Given the description of an element on the screen output the (x, y) to click on. 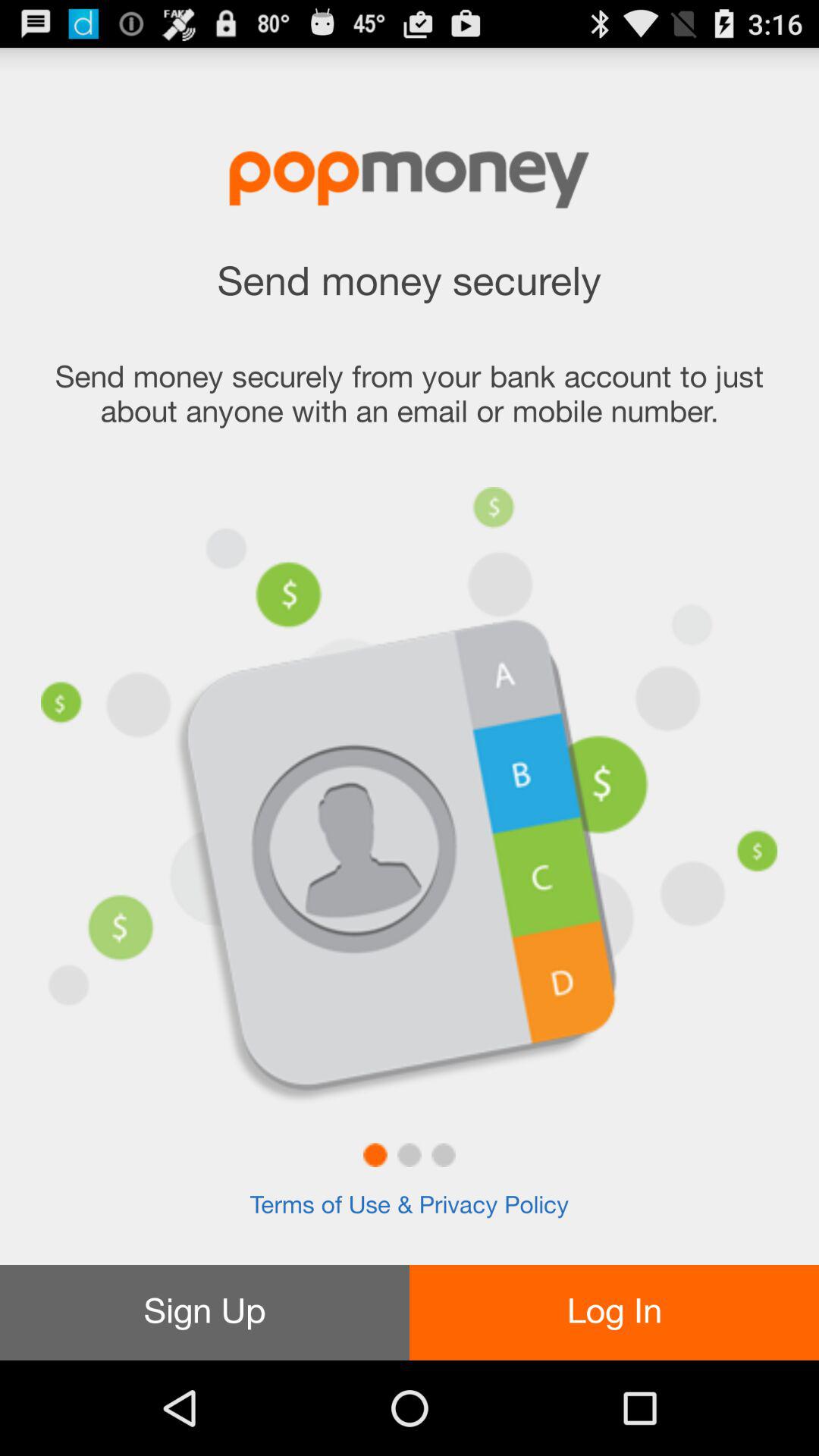
press item below the terms of use (204, 1312)
